Given the description of an element on the screen output the (x, y) to click on. 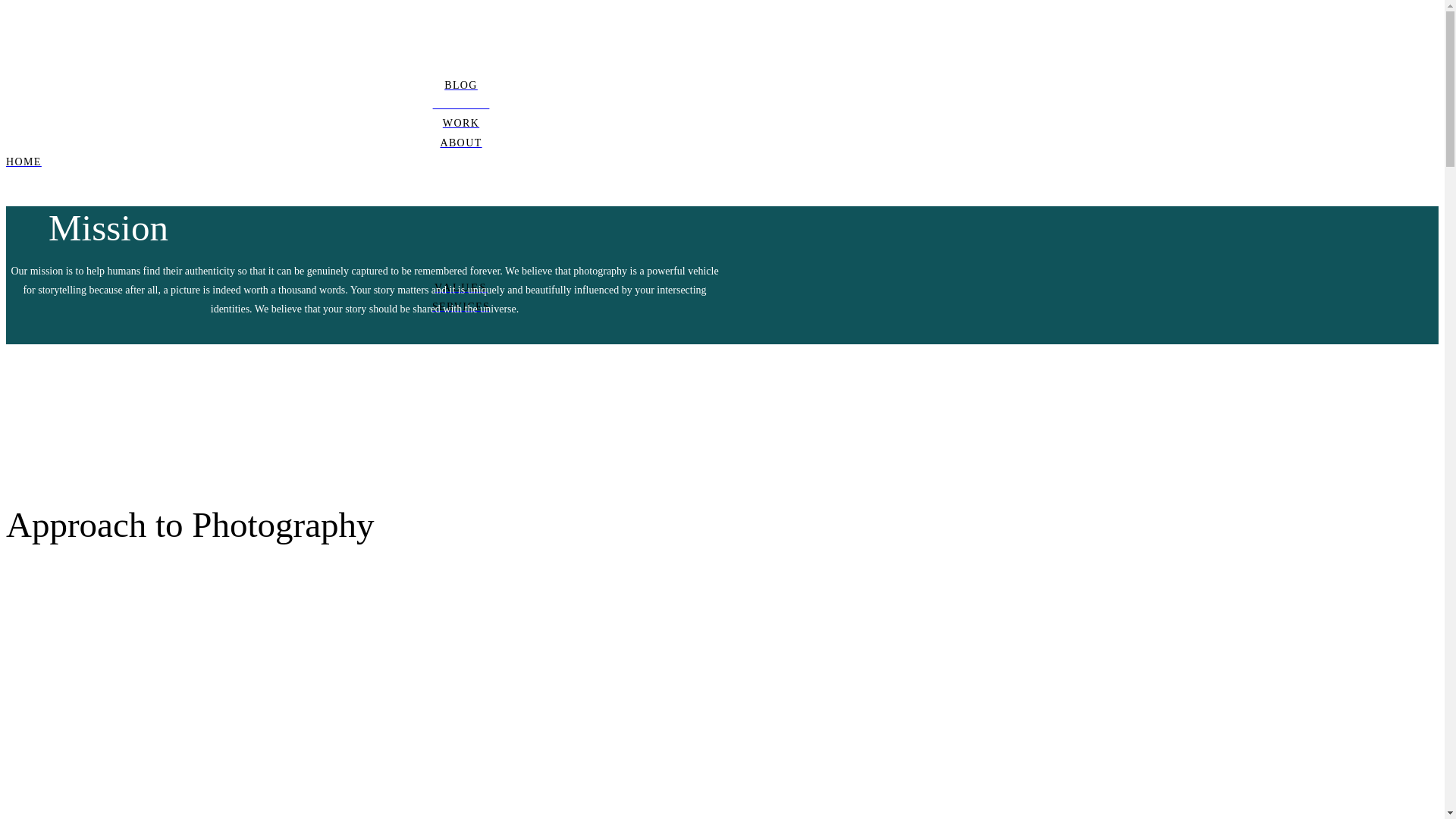
WORK (460, 122)
SERVICES (460, 306)
HOME (460, 161)
VALUES (460, 287)
ABOUT (460, 142)
BLOG (460, 85)
CONTACT (460, 104)
